Given the description of an element on the screen output the (x, y) to click on. 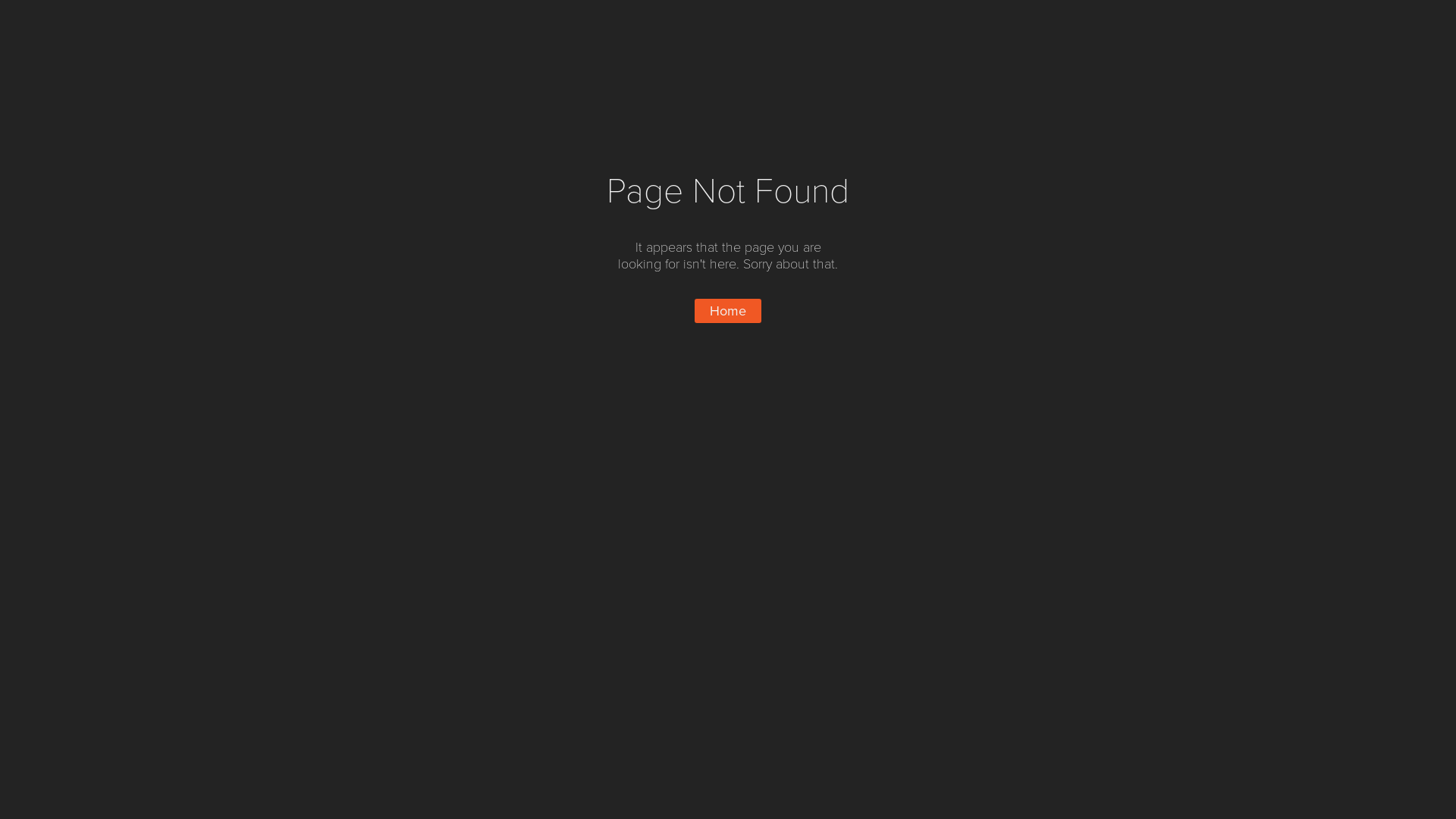
Home Element type: text (727, 310)
